Given the description of an element on the screen output the (x, y) to click on. 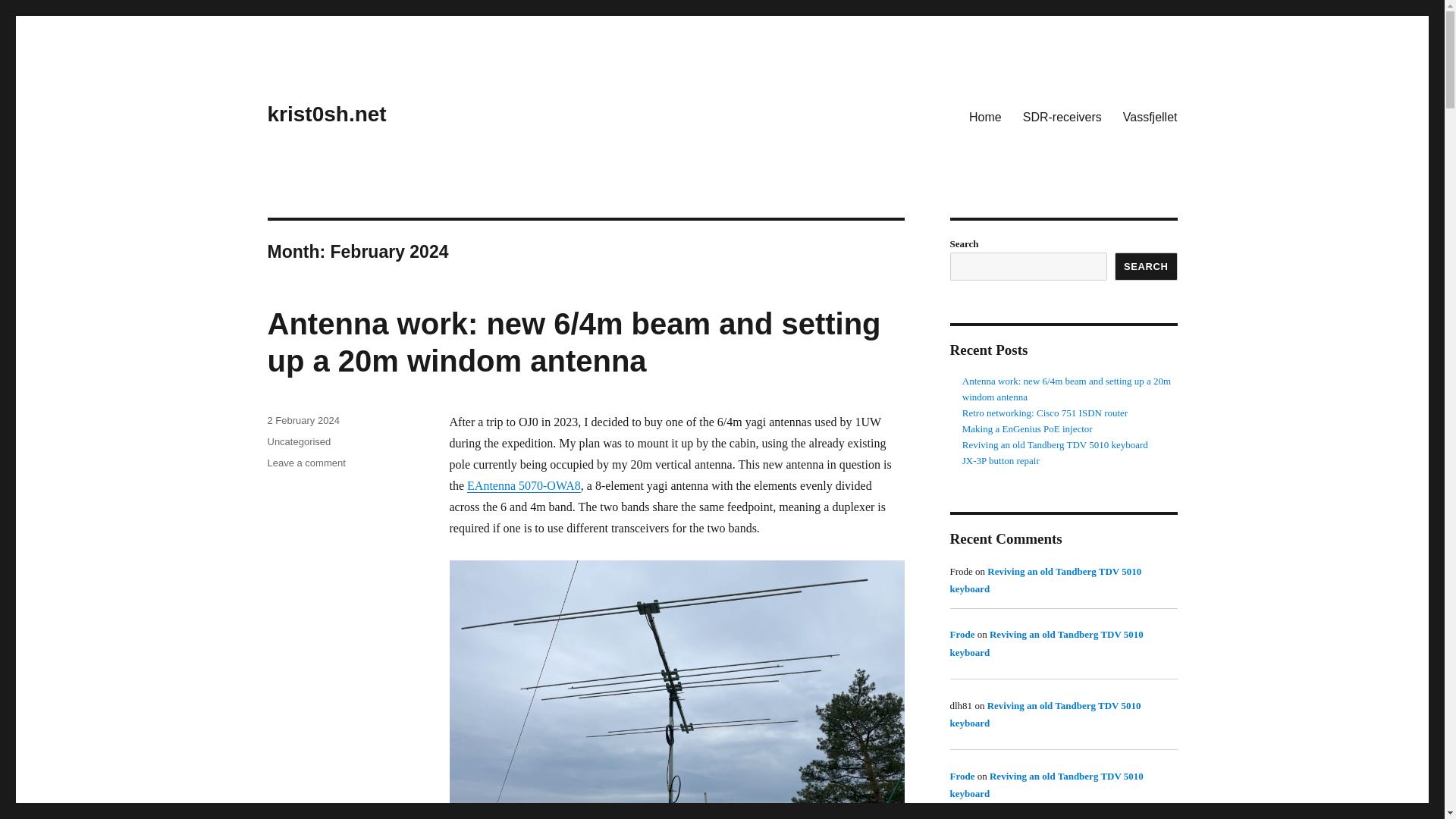
Uncategorised (298, 441)
Reviving an old Tandberg TDV 5010 keyboard (1045, 642)
JX-3P button repair (1000, 460)
Home (984, 116)
Vassfjellet (1150, 116)
2 February 2024 (302, 419)
SEARCH (1146, 266)
Frode (961, 633)
EAntenna 5070-OWA8 (523, 485)
Making a EnGenius PoE injector (1027, 428)
krist0sh.net (325, 114)
Reviving an old Tandberg TDV 5010 keyboard (1055, 444)
Reviving an old Tandberg TDV 5010 keyboard (1045, 579)
Retro networking: Cisco 751 ISDN router (1044, 412)
Reviving an old Tandberg TDV 5010 keyboard (1045, 784)
